Given the description of an element on the screen output the (x, y) to click on. 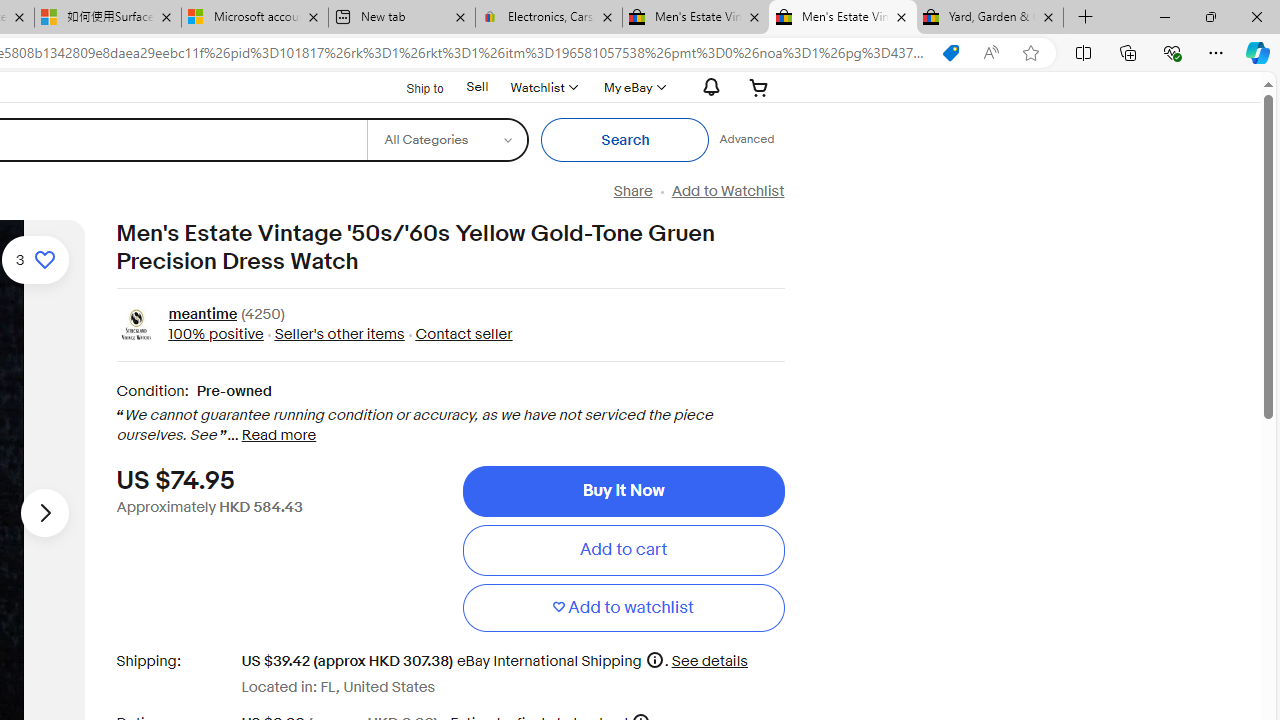
Expand Cart (759, 87)
My eBay (632, 87)
Read more about condition (278, 435)
Microsoft account | Account Checkup (254, 17)
Class: ux-action (136, 325)
My eBayExpand My eBay (632, 87)
Select a category for search (447, 139)
Seller's other items (338, 334)
Watchlist (543, 87)
